Given the description of an element on the screen output the (x, y) to click on. 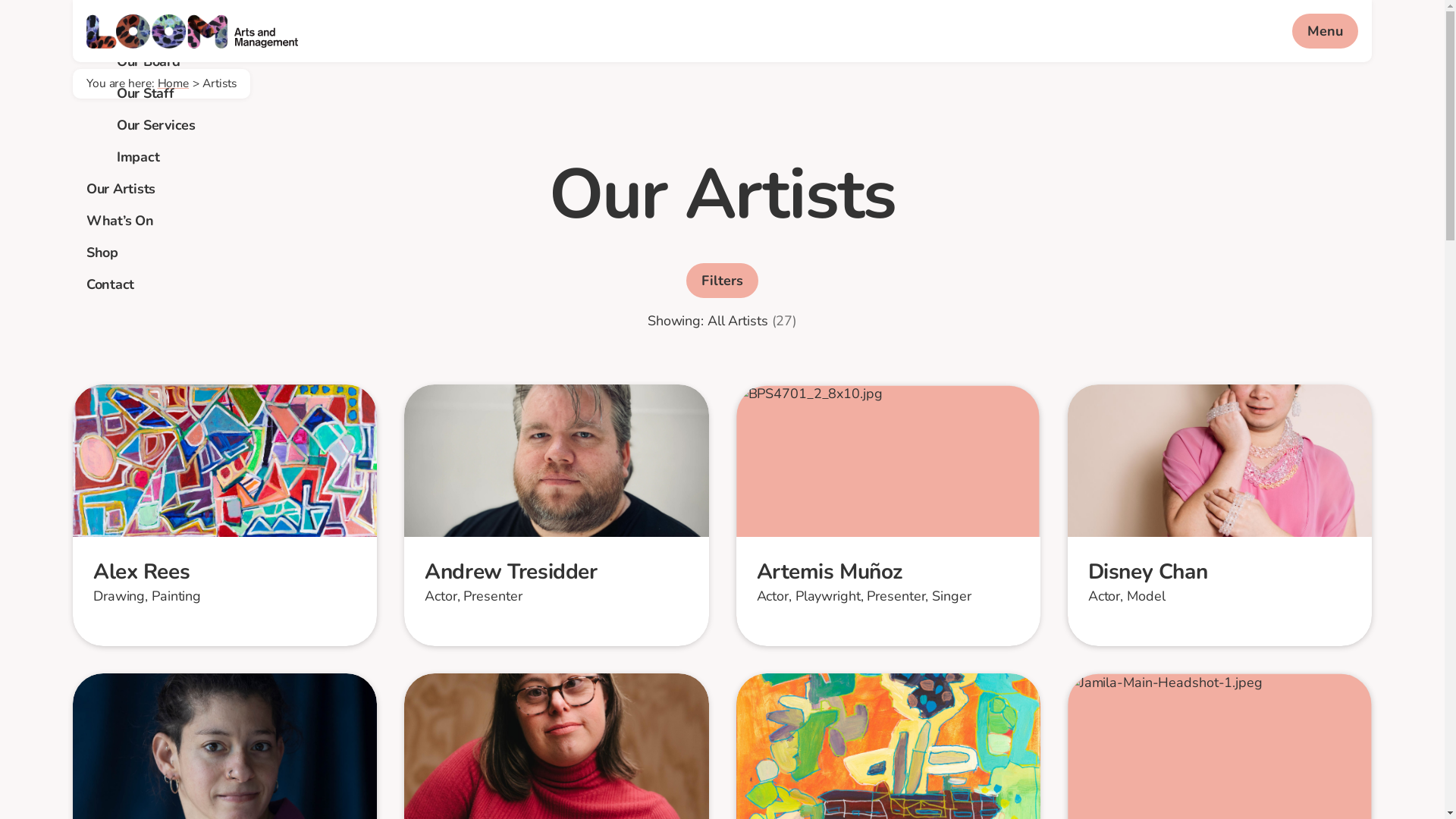
Filters Element type: text (721, 280)
Impact Element type: text (137, 156)
Shop Element type: text (102, 252)
Alex Rees
Drawing, Painting Element type: text (224, 515)
Contact Element type: text (110, 284)
Menu Element type: text (1325, 30)
Home Element type: text (173, 83)
About Element type: text (105, 29)
Our Artists Element type: text (120, 188)
Our Staff Element type: text (145, 93)
Disney Chan
Actor, Model Element type: text (1219, 515)
Our Services Element type: text (155, 125)
Our Board Element type: text (148, 61)
Andrew Tresidder
Actor, Presenter Element type: text (556, 515)
